Given the description of an element on the screen output the (x, y) to click on. 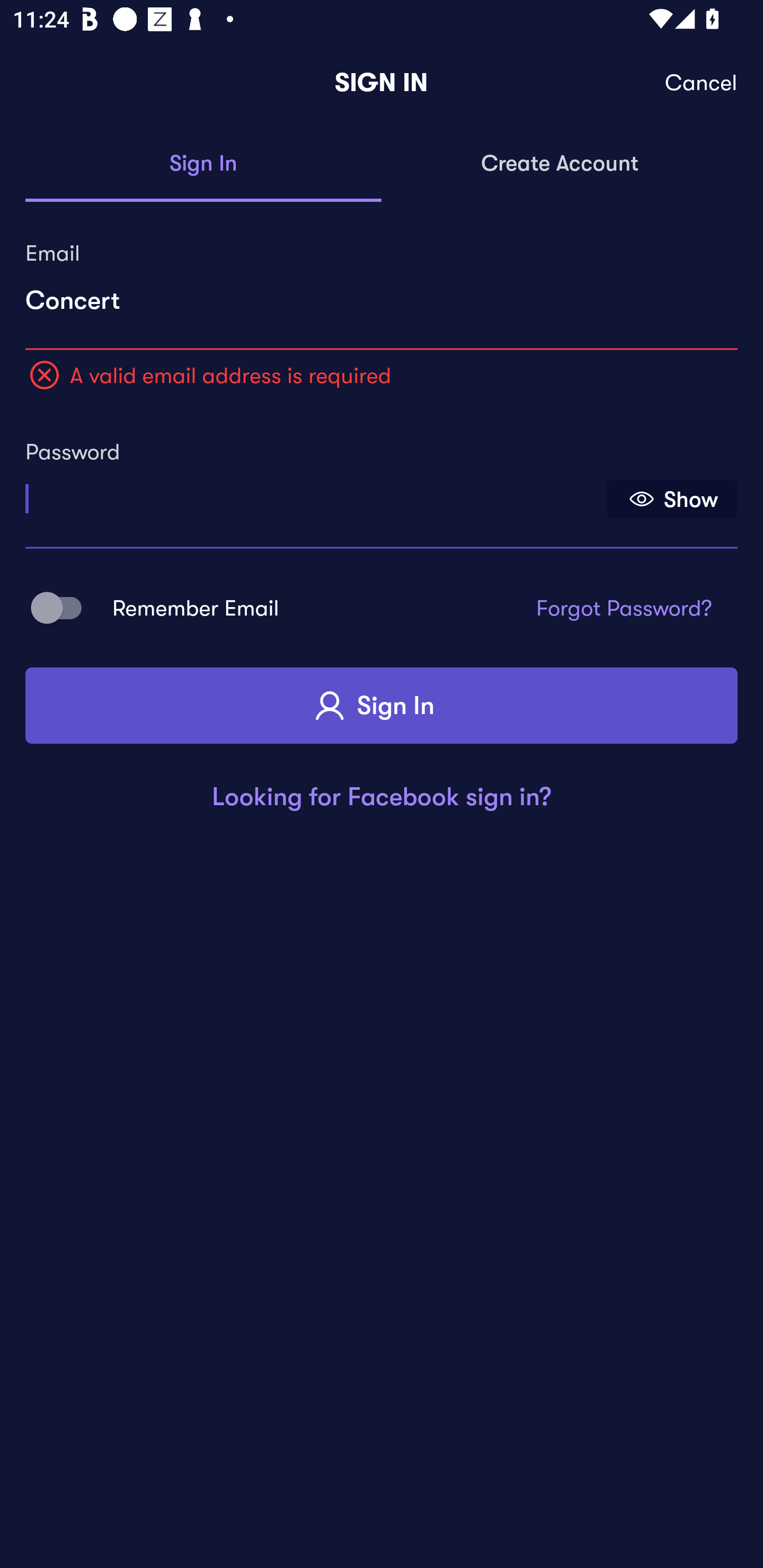
Cancel (701, 82)
Sign In (203, 164)
Create Account (559, 164)
Password (314, 493)
Show Password Show (671, 498)
Remember Email (62, 607)
Sign In (381, 705)
